Given the description of an element on the screen output the (x, y) to click on. 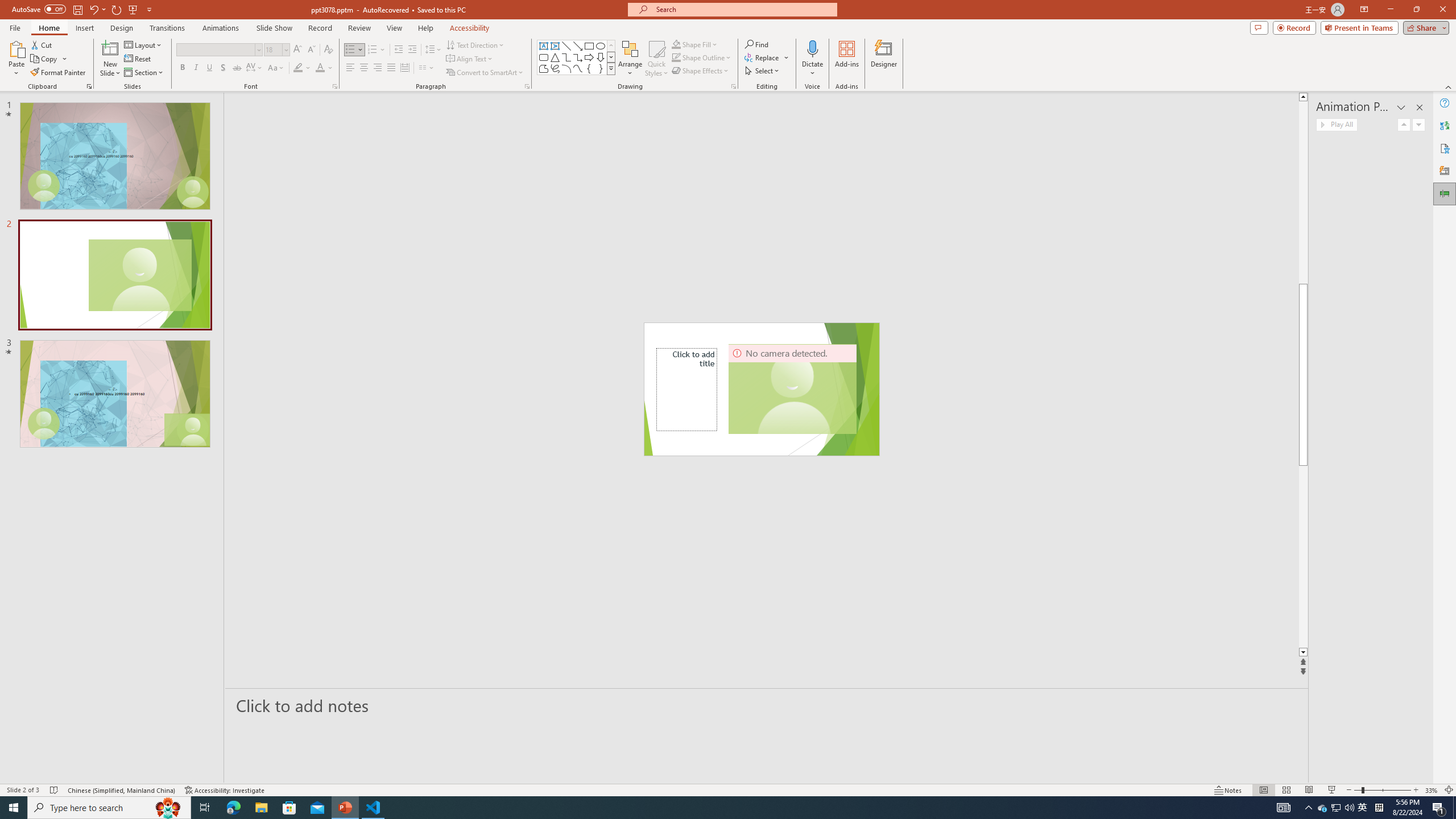
Paste (16, 58)
Minimize (1390, 9)
Collapse the Ribbon (1448, 86)
AutoSave (38, 9)
Convert to SmartArt (485, 72)
Line up (1302, 96)
Connector: Elbow Arrow (577, 57)
Page down (1302, 556)
Text Box (543, 45)
Notes  (1227, 790)
Font Color (324, 67)
Bullets (354, 49)
Design (122, 28)
